Given the description of an element on the screen output the (x, y) to click on. 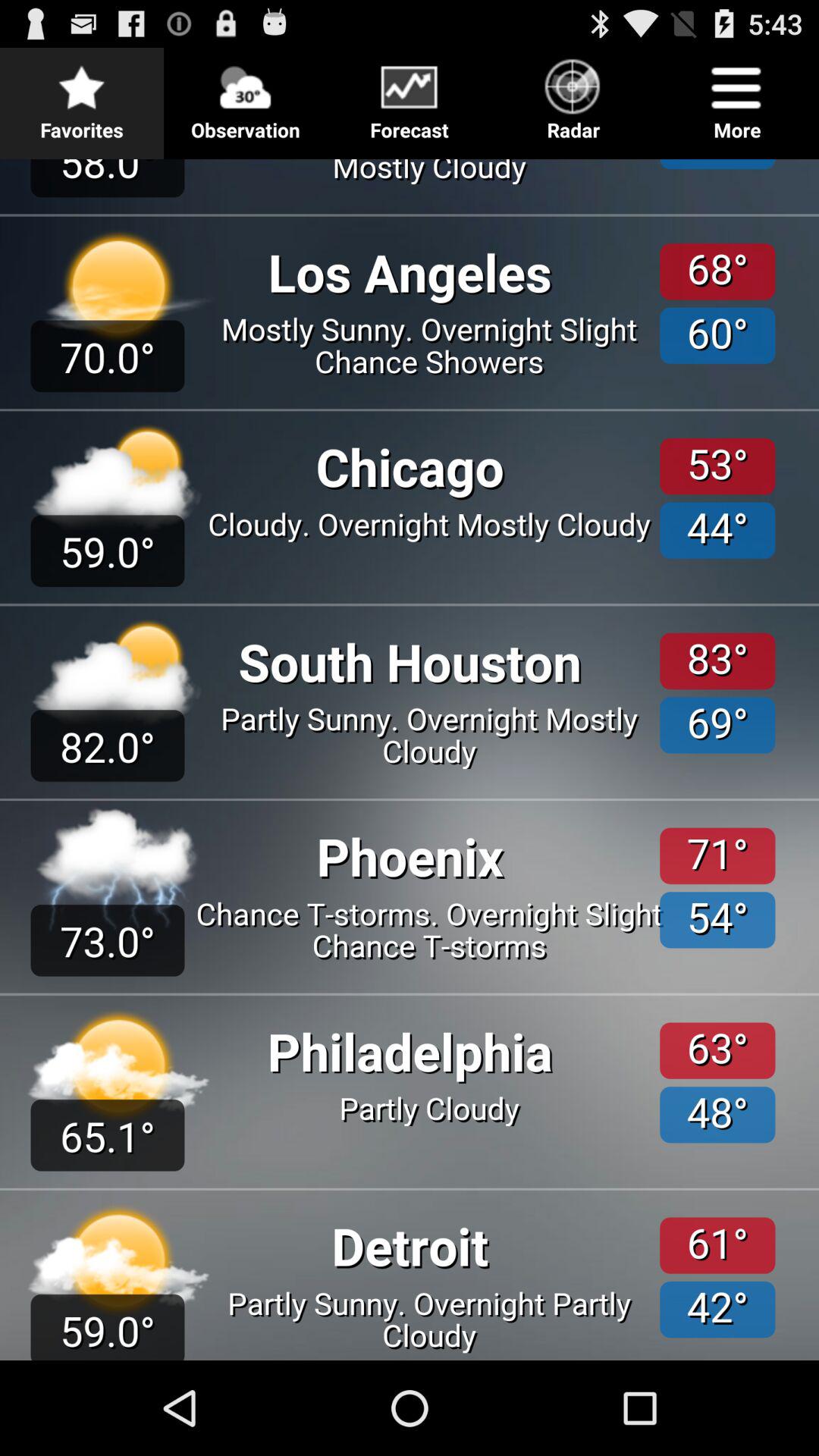
launch the button to the right of forecast icon (573, 95)
